Given the description of an element on the screen output the (x, y) to click on. 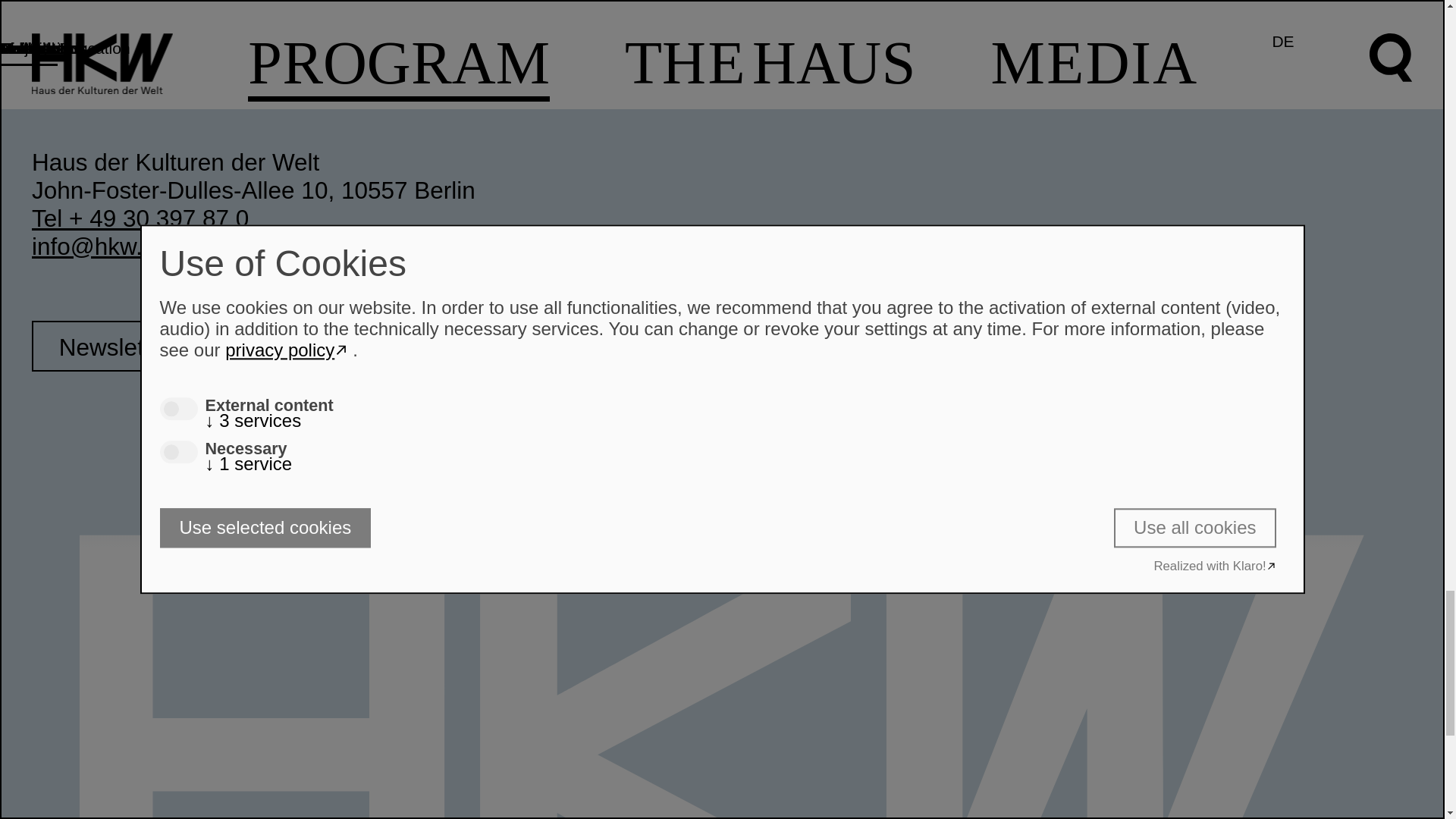
Accessibility (894, 30)
About Us (549, 9)
The New Alphabet (204, 30)
Architecture (549, 30)
Webshop (894, 53)
Anthropocene at HKW (204, 53)
Program 2022 (204, 9)
